Given the description of an element on the screen output the (x, y) to click on. 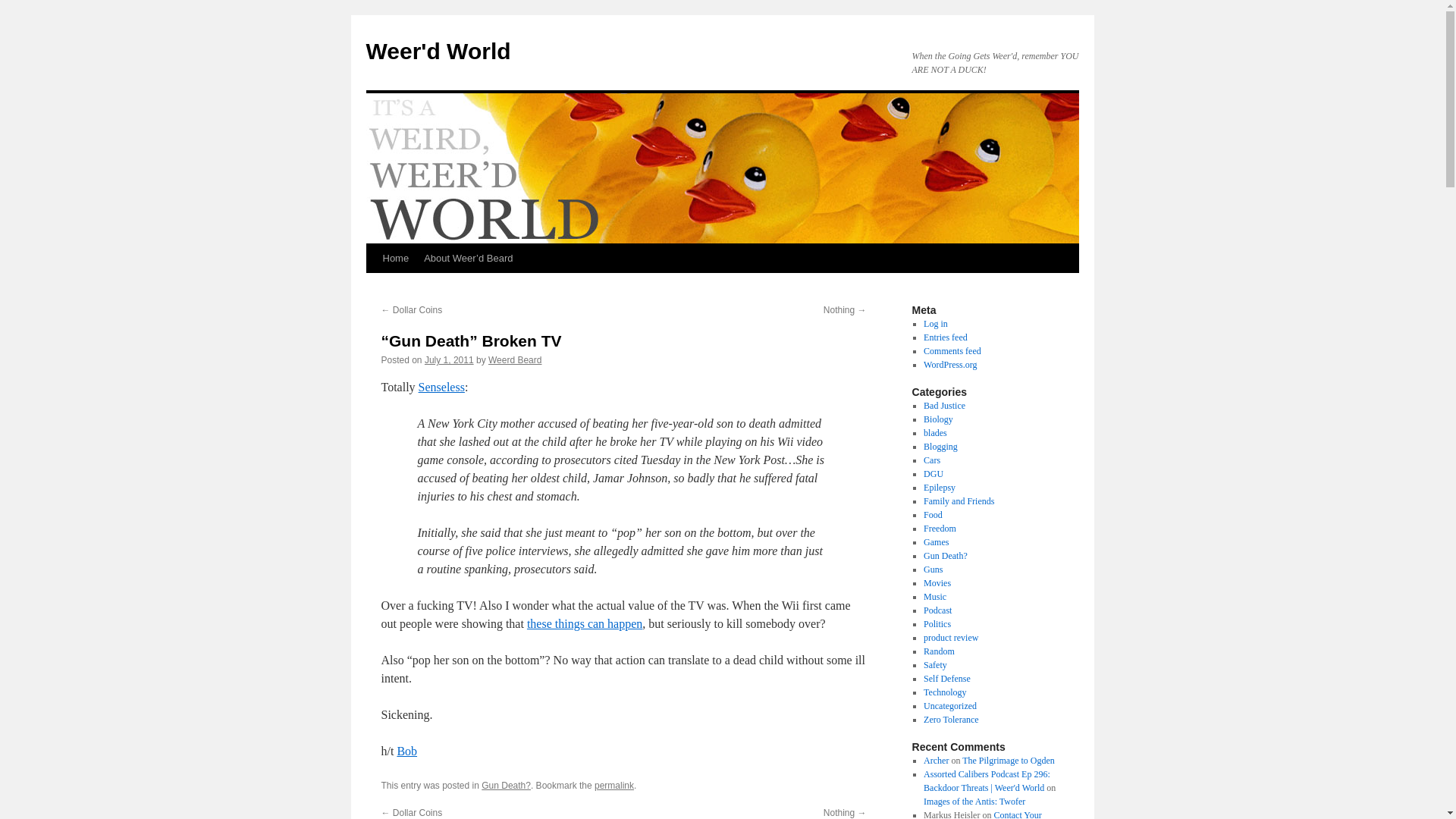
blades (935, 432)
Log in (935, 323)
DGU (933, 473)
Entries feed (945, 337)
July 1, 2011 (449, 359)
Gun Death? (506, 785)
Weer'd World (438, 50)
Biology (938, 419)
these things can happen (584, 623)
Cars (931, 460)
5:05 am (449, 359)
Bob (406, 750)
Freedom (939, 528)
Senseless (441, 386)
View all posts by Weerd Beard (514, 359)
